Given the description of an element on the screen output the (x, y) to click on. 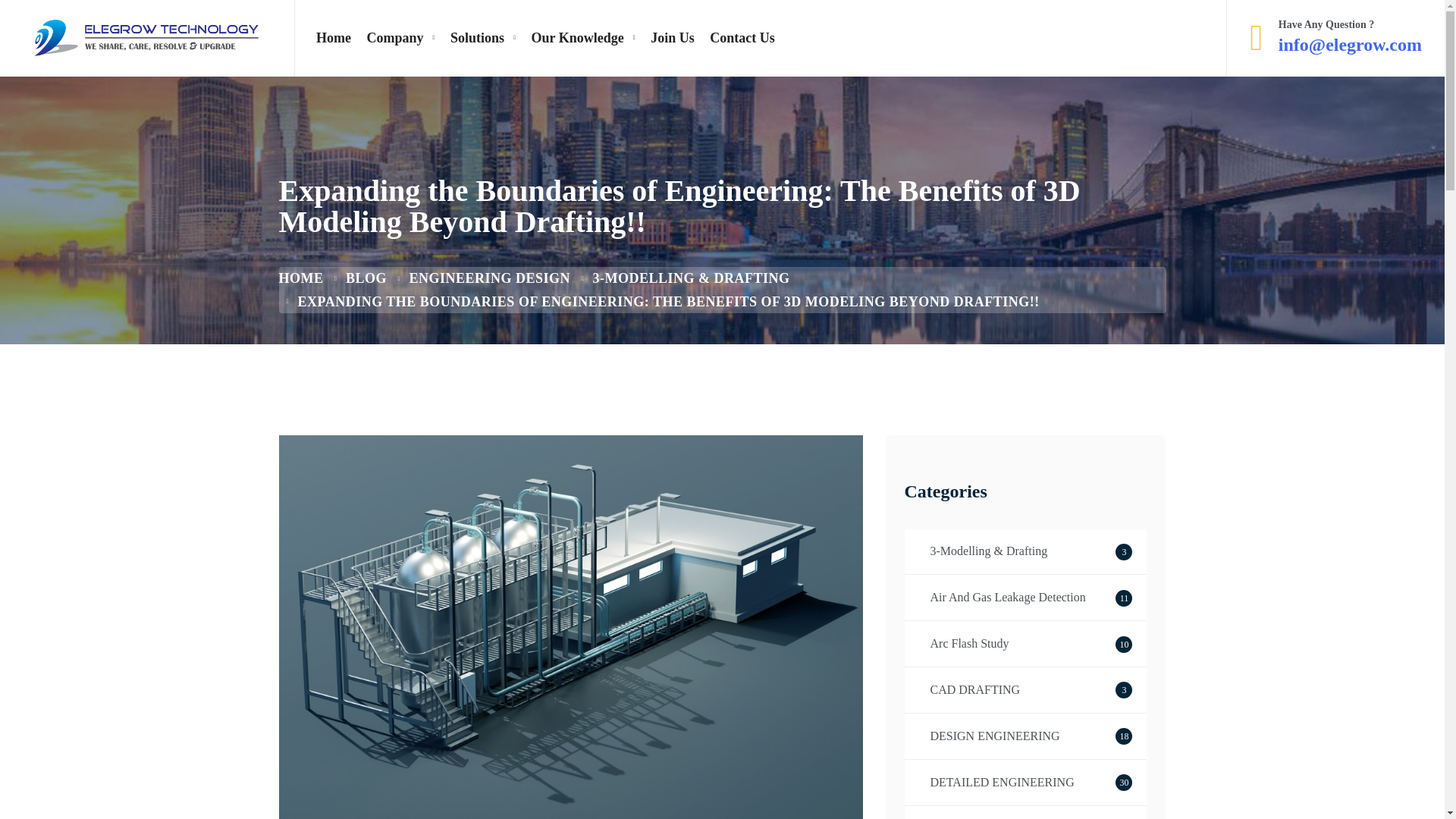
Company (400, 38)
Our Knowledge (1026, 643)
BLOG (583, 38)
Contact Us (1026, 689)
Join Us (1026, 597)
Home (366, 278)
HOME (1026, 782)
Solutions (741, 38)
ENGINEERING DESIGN (1026, 812)
